Given the description of an element on the screen output the (x, y) to click on. 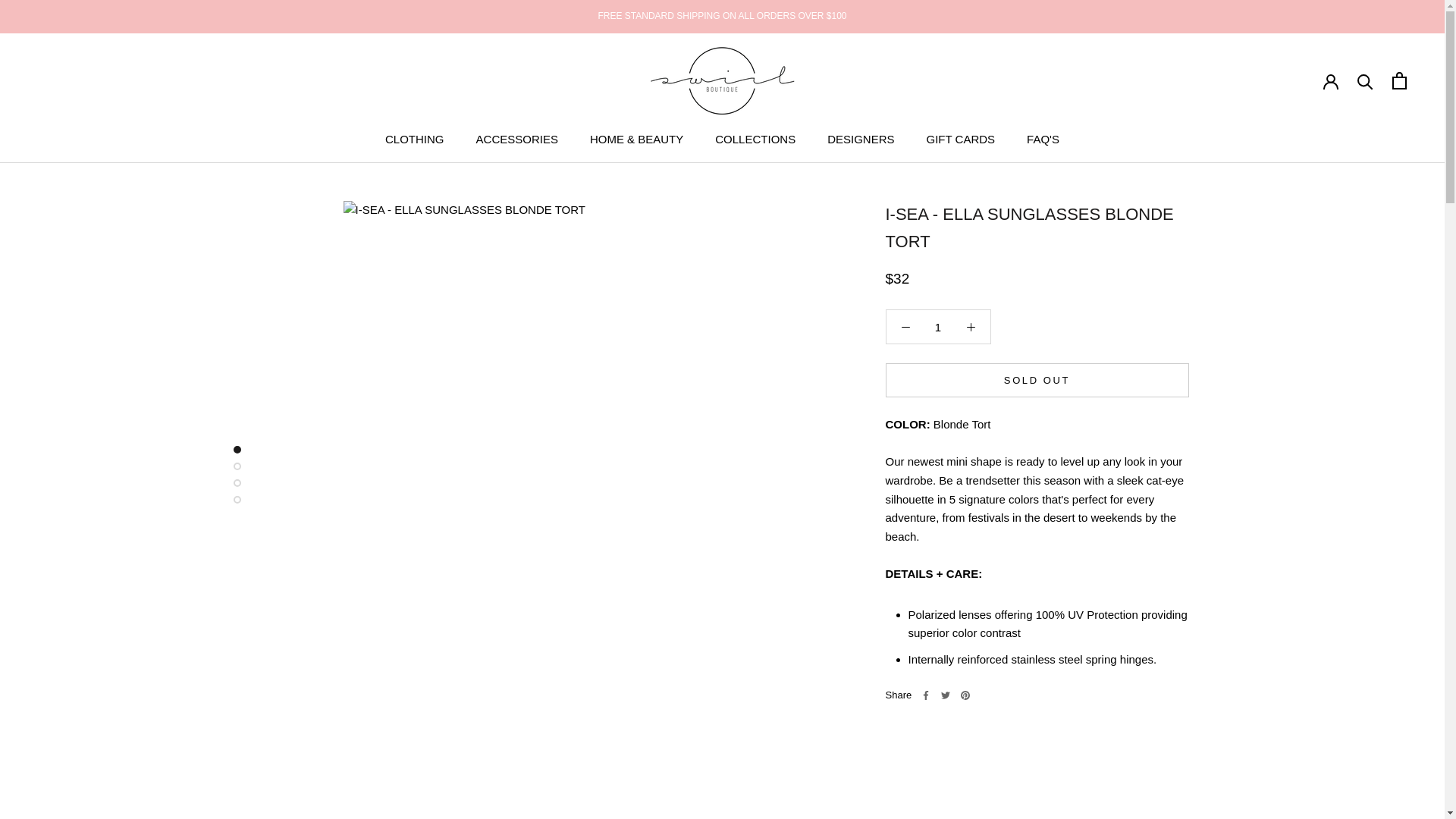
1 (938, 327)
